Given the description of an element on the screen output the (x, y) to click on. 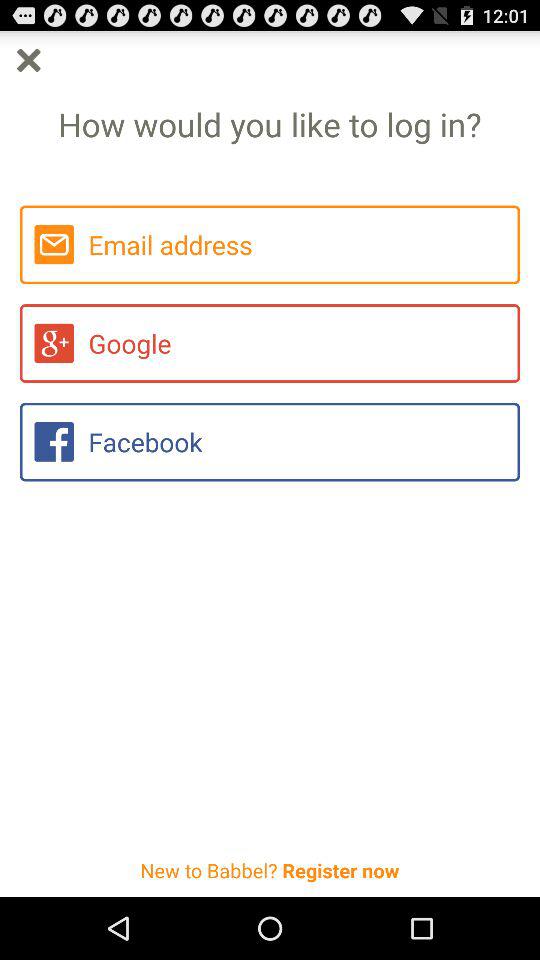
exit (28, 60)
